Given the description of an element on the screen output the (x, y) to click on. 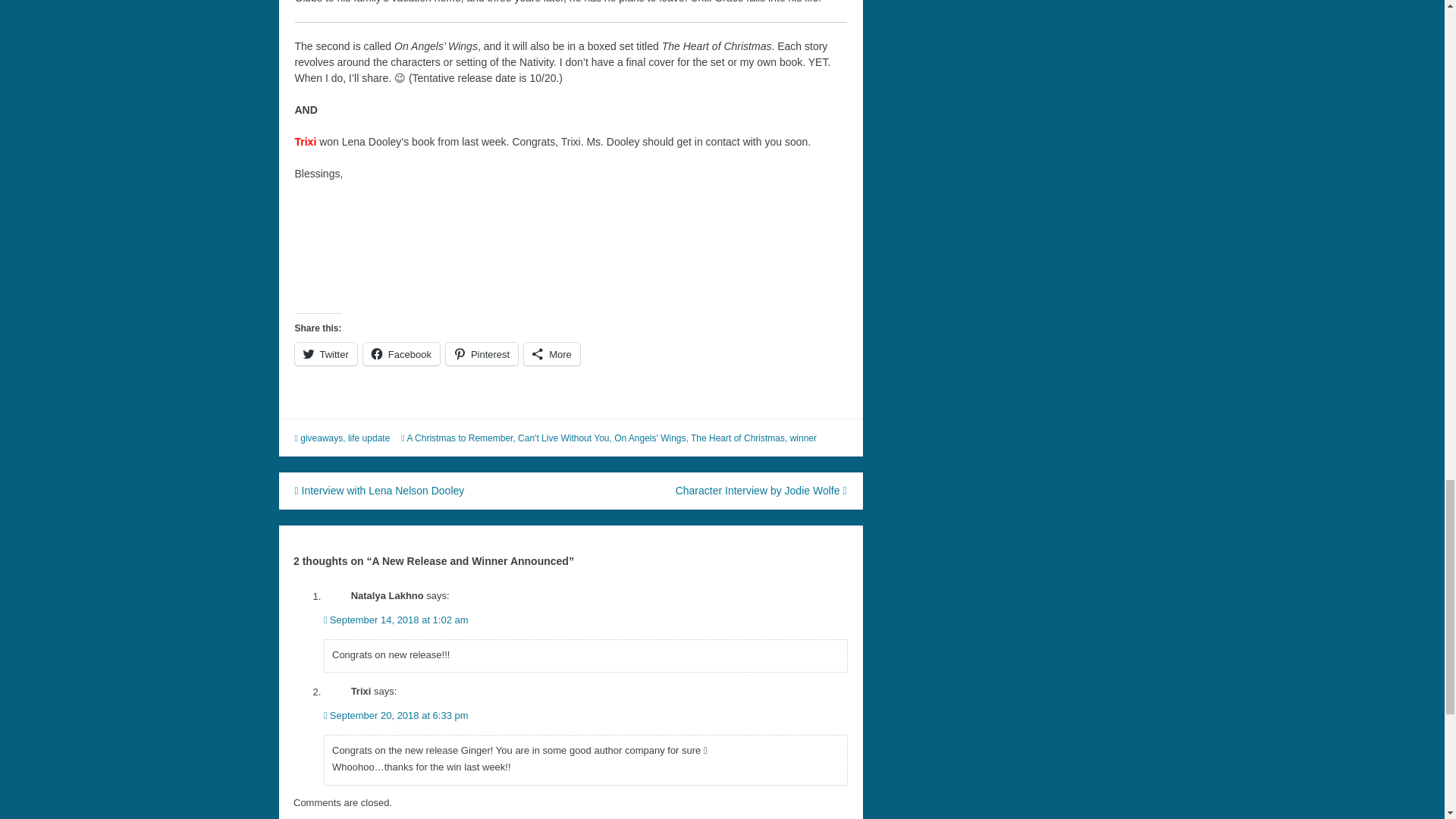
Character Interview by Jodie Wolfe (761, 490)
Twitter (325, 354)
On Angels' Wings (649, 438)
Interview with Lena Nelson Dooley (379, 490)
September 14, 2018 at 1:02 am (395, 619)
life update (368, 438)
giveaways (320, 438)
Facebook (400, 354)
Pinterest (481, 354)
More (551, 354)
A Christmas to Remember (459, 438)
Can't Live Without You (563, 438)
Click to share on Pinterest (481, 354)
Click to share on Facebook (400, 354)
September 20, 2018 at 6:33 pm (395, 715)
